Given the description of an element on the screen output the (x, y) to click on. 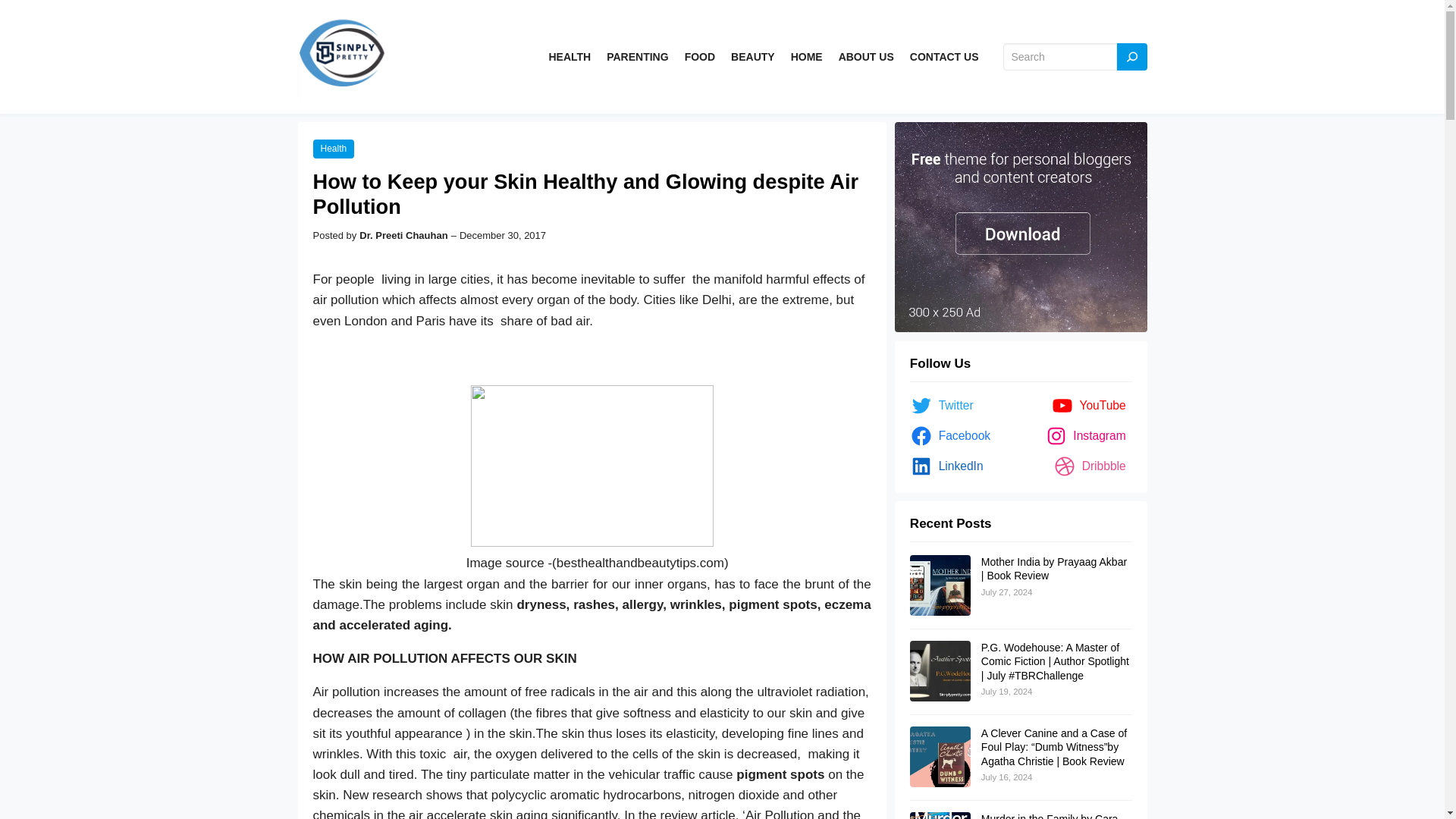
Health (333, 148)
HEALTH (569, 56)
BEAUTY (752, 56)
HOME (806, 56)
FOOD (699, 56)
PARENTING (637, 56)
CONTACT US (944, 56)
ABOUT US (865, 56)
